Given the description of an element on the screen output the (x, y) to click on. 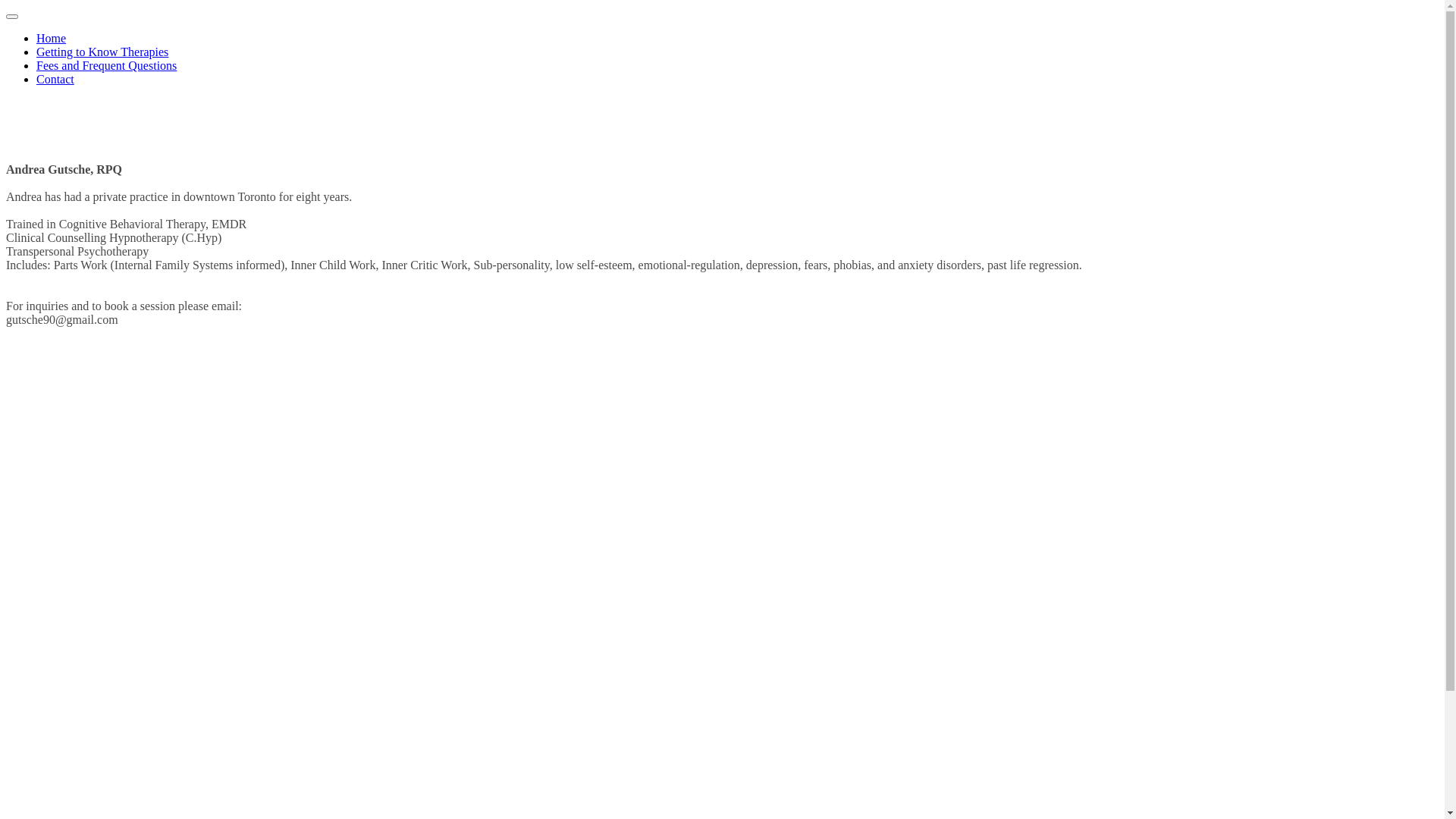
Fees and Frequent Questions Element type: text (106, 65)
Contact Element type: text (55, 78)
Getting to Know Therapies Element type: text (102, 51)
Home Element type: text (50, 37)
Menu Element type: hover (12, 16)
